Given the description of an element on the screen output the (x, y) to click on. 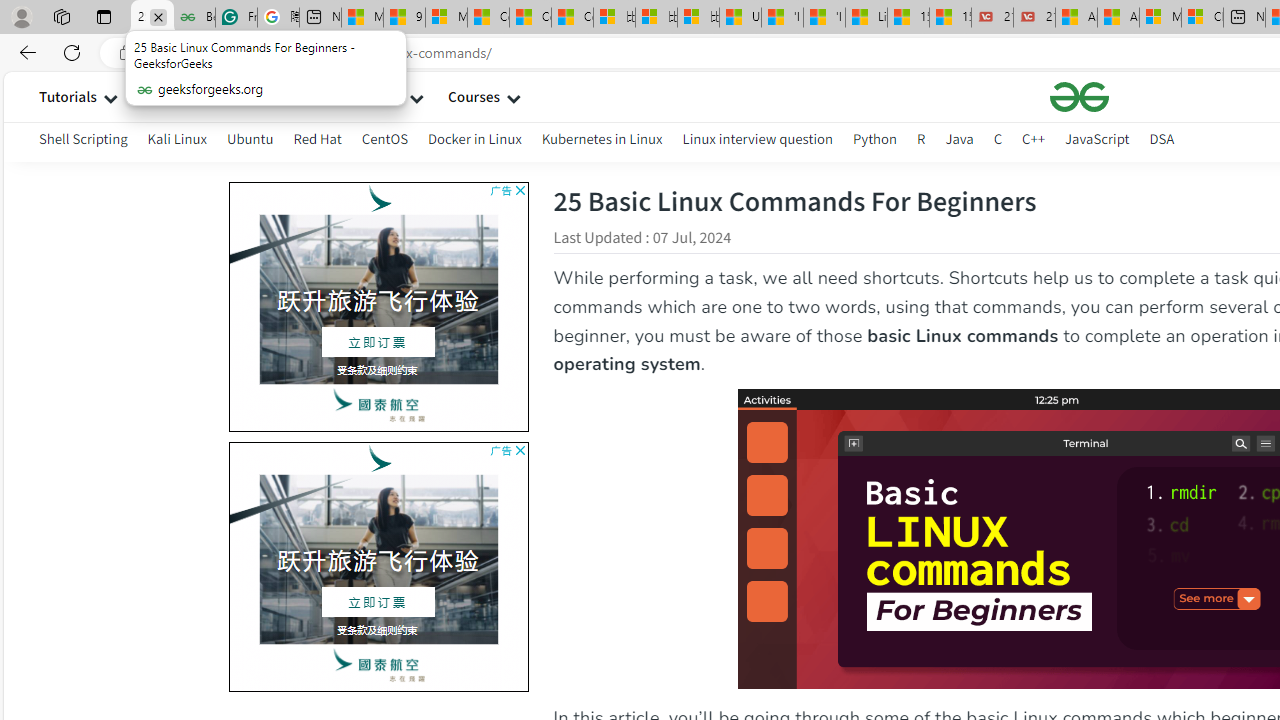
DSA (1162, 142)
Kubernetes in Linux (602, 142)
Python (874, 138)
Free AI Writing Assistance for Students | Grammarly (236, 17)
geeksforgeeks (1079, 97)
Ubuntu (250, 138)
JavaScript (1097, 142)
